Given the description of an element on the screen output the (x, y) to click on. 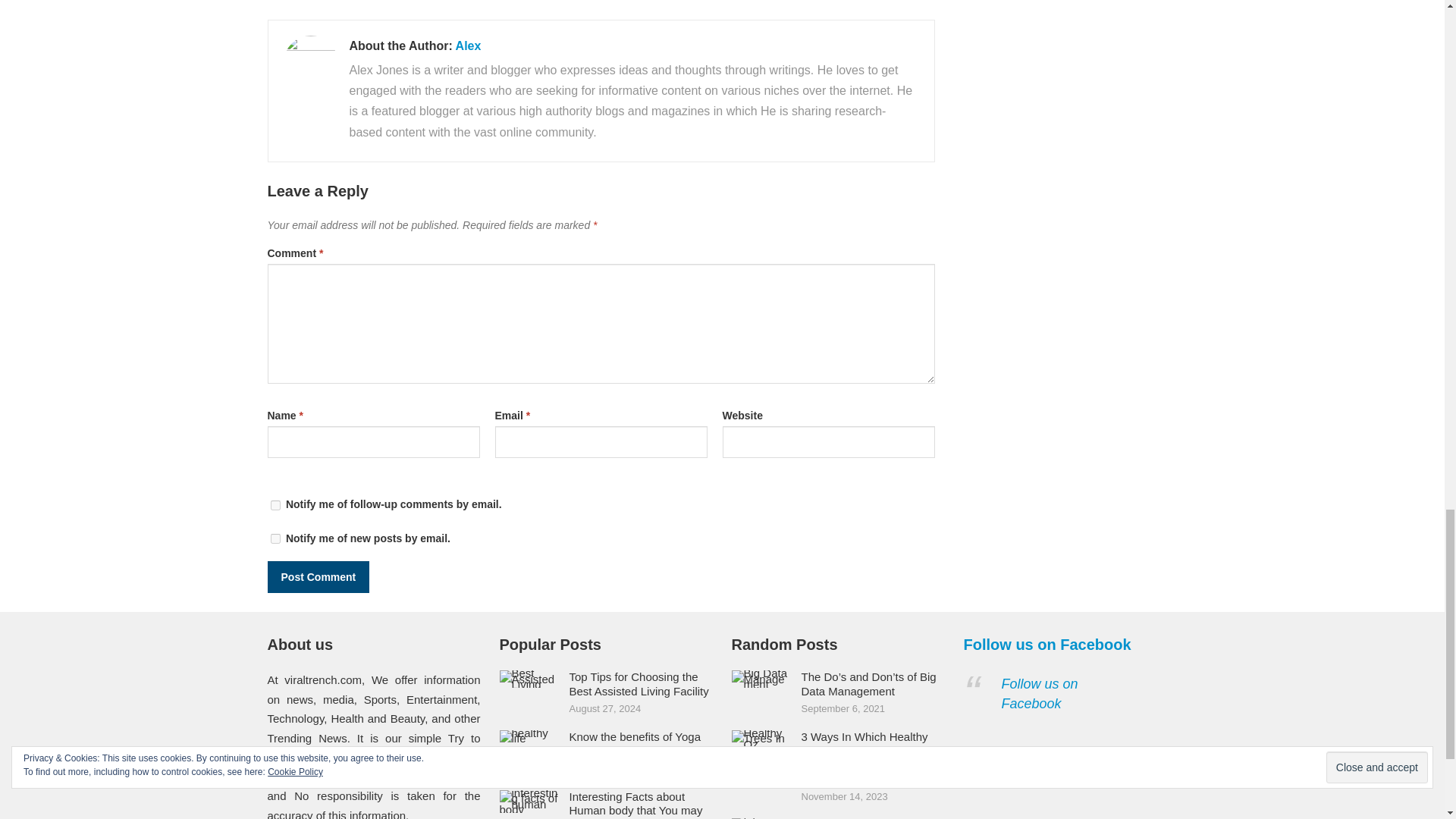
Post Comment (317, 576)
subscribe (274, 538)
subscribe (274, 505)
